Given the description of an element on the screen output the (x, y) to click on. 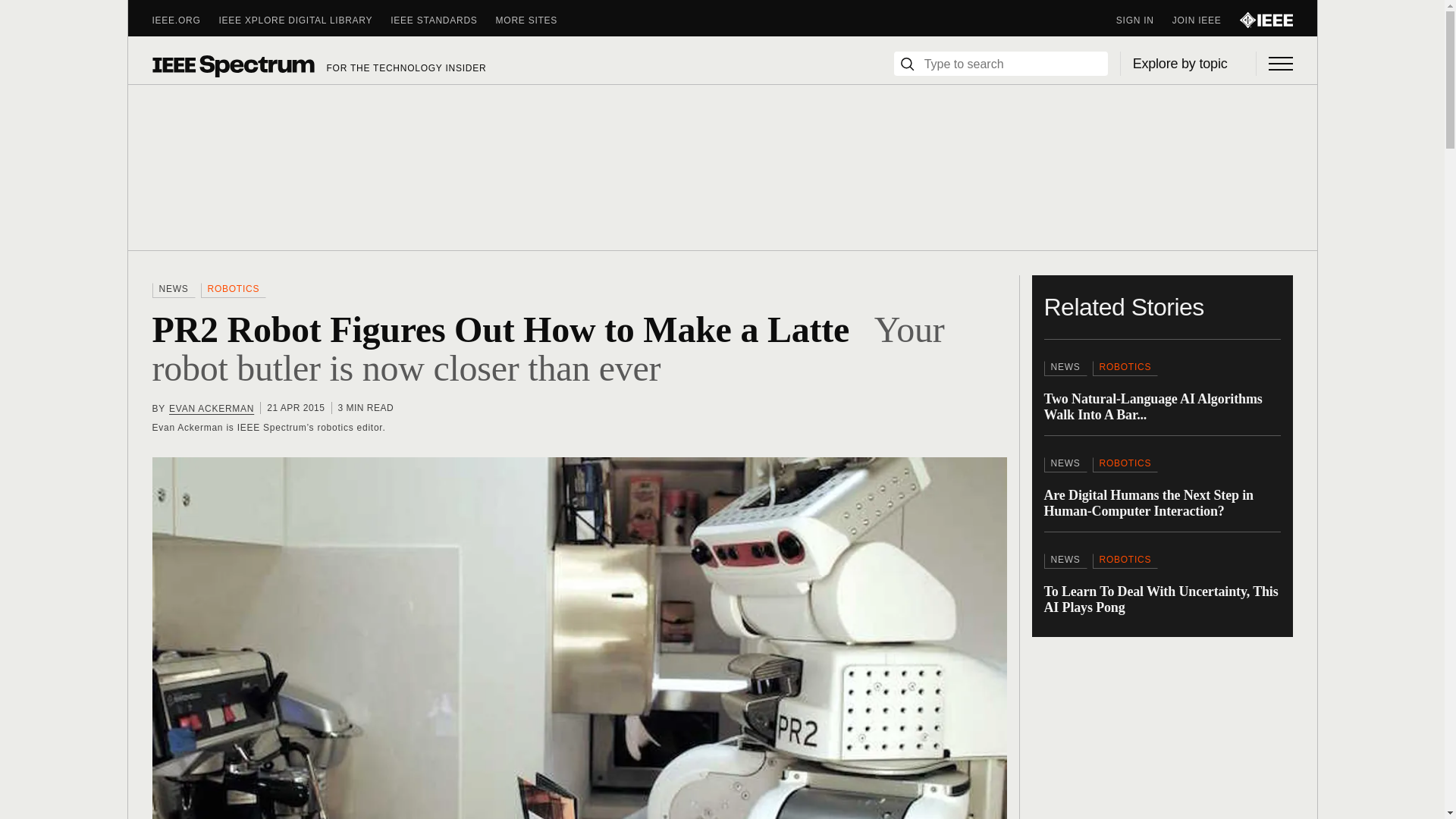
IEEE.ORG (184, 20)
IEEE XPLORE DIGITAL LIBRARY (305, 20)
MORE SITES (536, 20)
Search (907, 63)
SIGN IN (1144, 20)
IEEE STANDARDS (442, 20)
Spectrum Logo (232, 64)
JOIN IEEE (1206, 20)
